Given the description of an element on the screen output the (x, y) to click on. 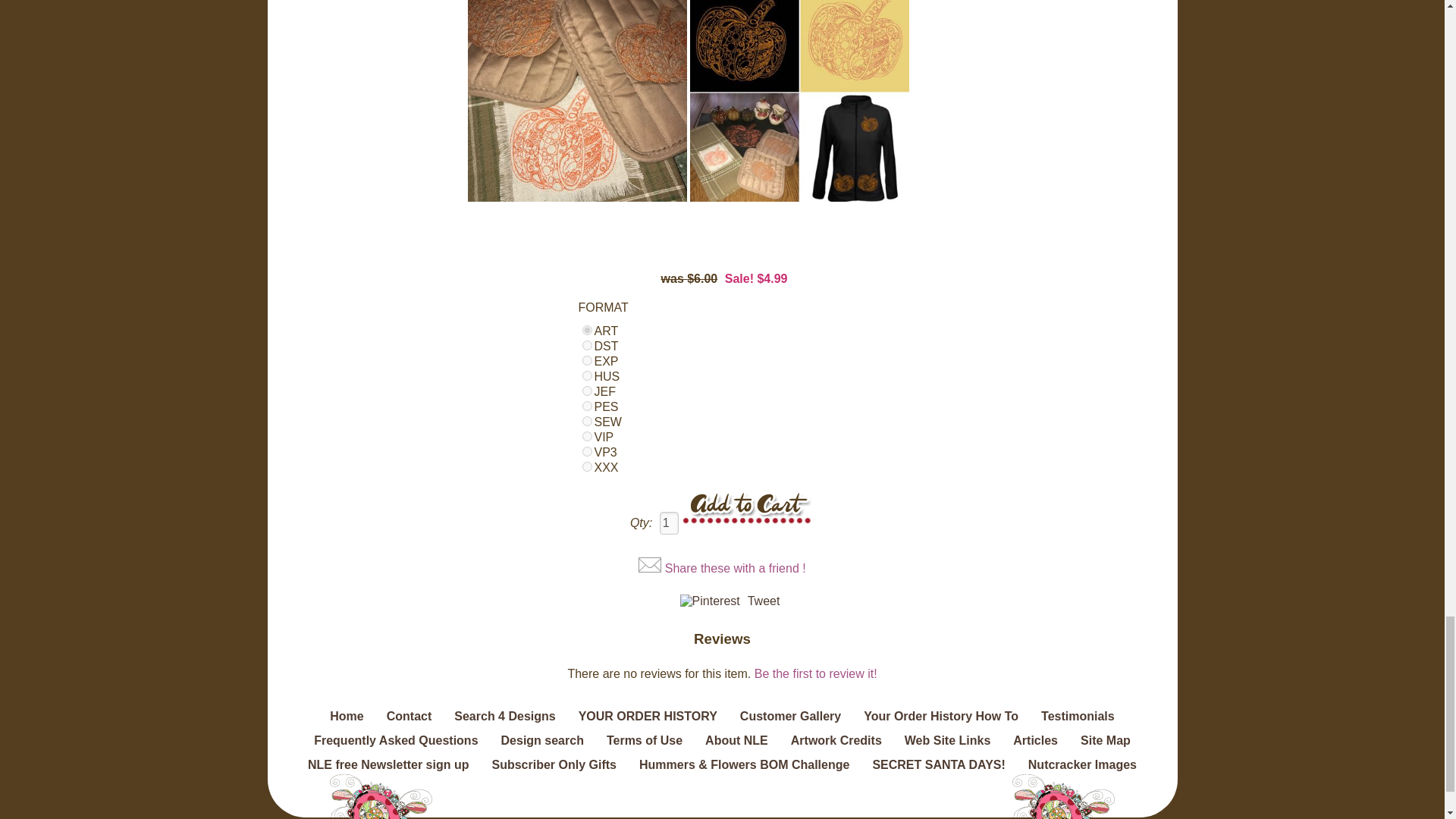
HUS (587, 375)
VIP (587, 436)
EXP (587, 360)
ART (587, 329)
DST (587, 345)
PES (587, 406)
XXX (587, 466)
SEW (587, 420)
VP3 (587, 451)
JEF (587, 390)
Pin It (709, 601)
